Given the description of an element on the screen output the (x, y) to click on. 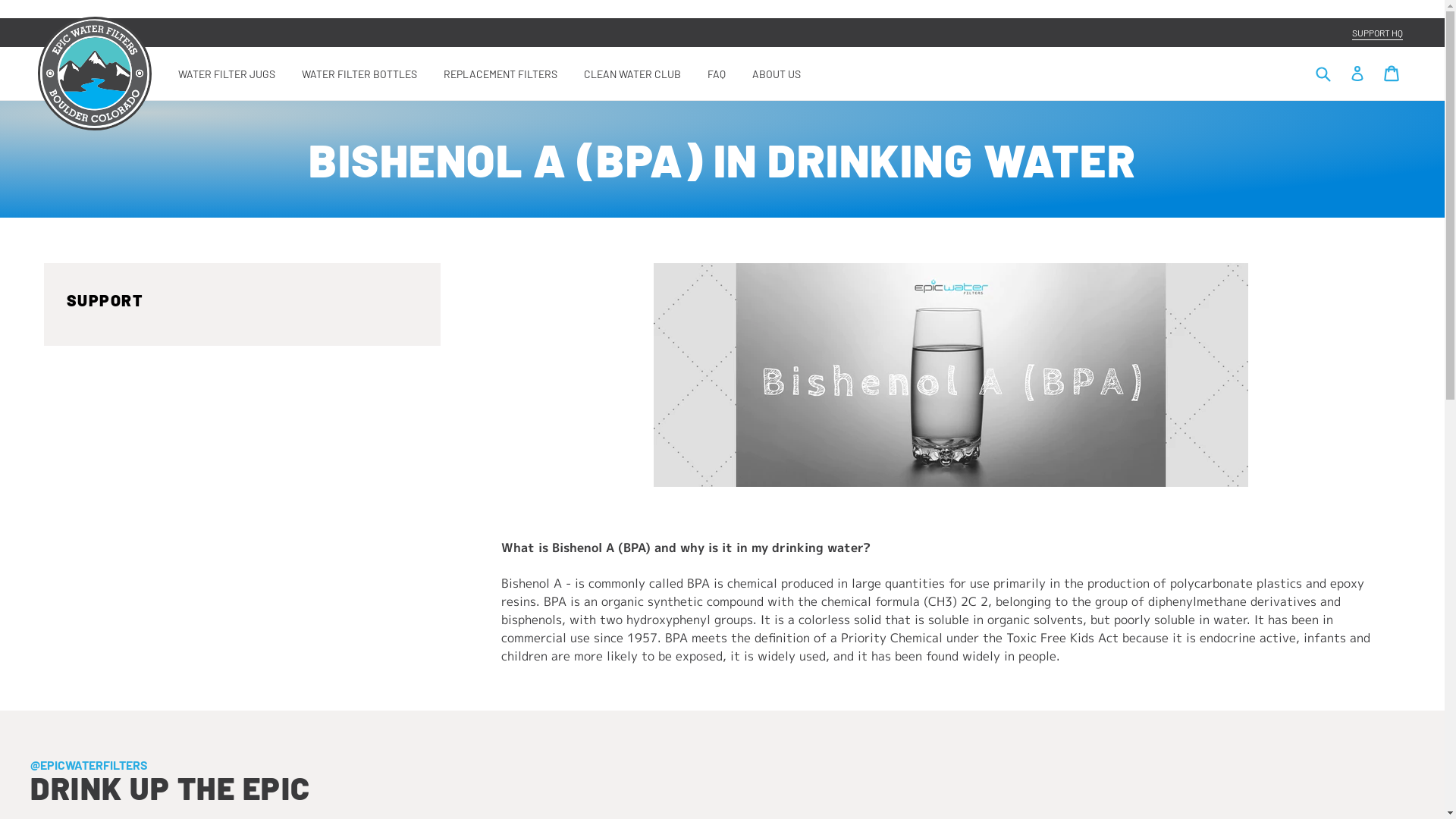
WATER FILTER BOTTLES
EXPAND Element type: text (359, 72)
Cart
Cart Element type: text (1391, 71)
Search Element type: text (1322, 73)
EPIC WATER FILTERS AU Element type: text (94, 73)
Log in Element type: text (1359, 71)
REPLACEMENT FILTERS
EXPAND Element type: text (500, 72)
@EPICWATERFILTERS Element type: text (88, 764)
CLEAN WATER CLUB Element type: text (632, 72)
ABOUT US Element type: text (776, 72)
SUPPORT HQ Element type: text (1377, 33)
FAQ Element type: text (716, 72)
WATER FILTER JUGS
EXPAND Element type: text (226, 72)
